Given the description of an element on the screen output the (x, y) to click on. 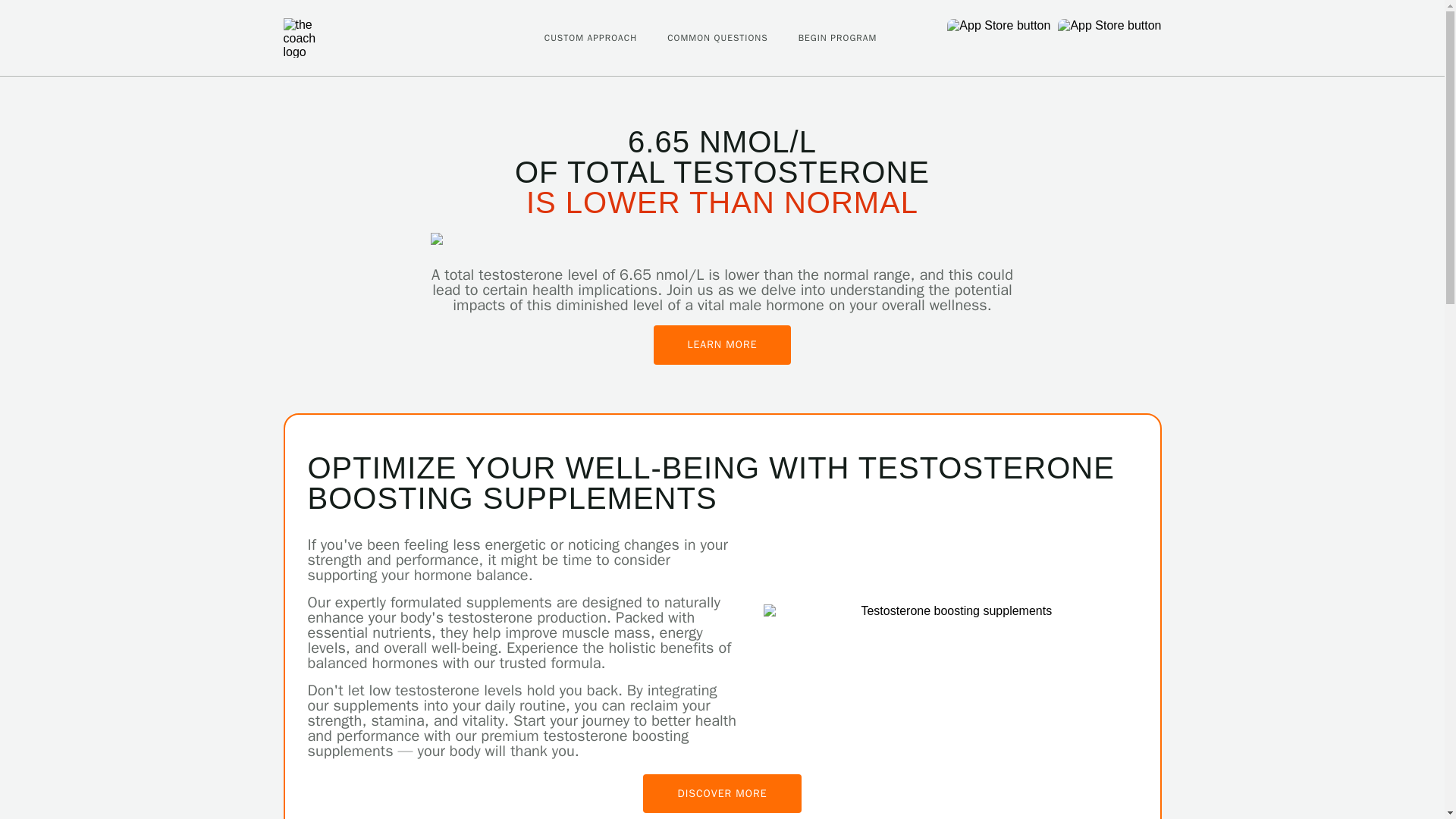
DISCOVER MORE (721, 793)
Testosterone boosting supplements (949, 611)
LEARN MORE (722, 344)
